Given the description of an element on the screen output the (x, y) to click on. 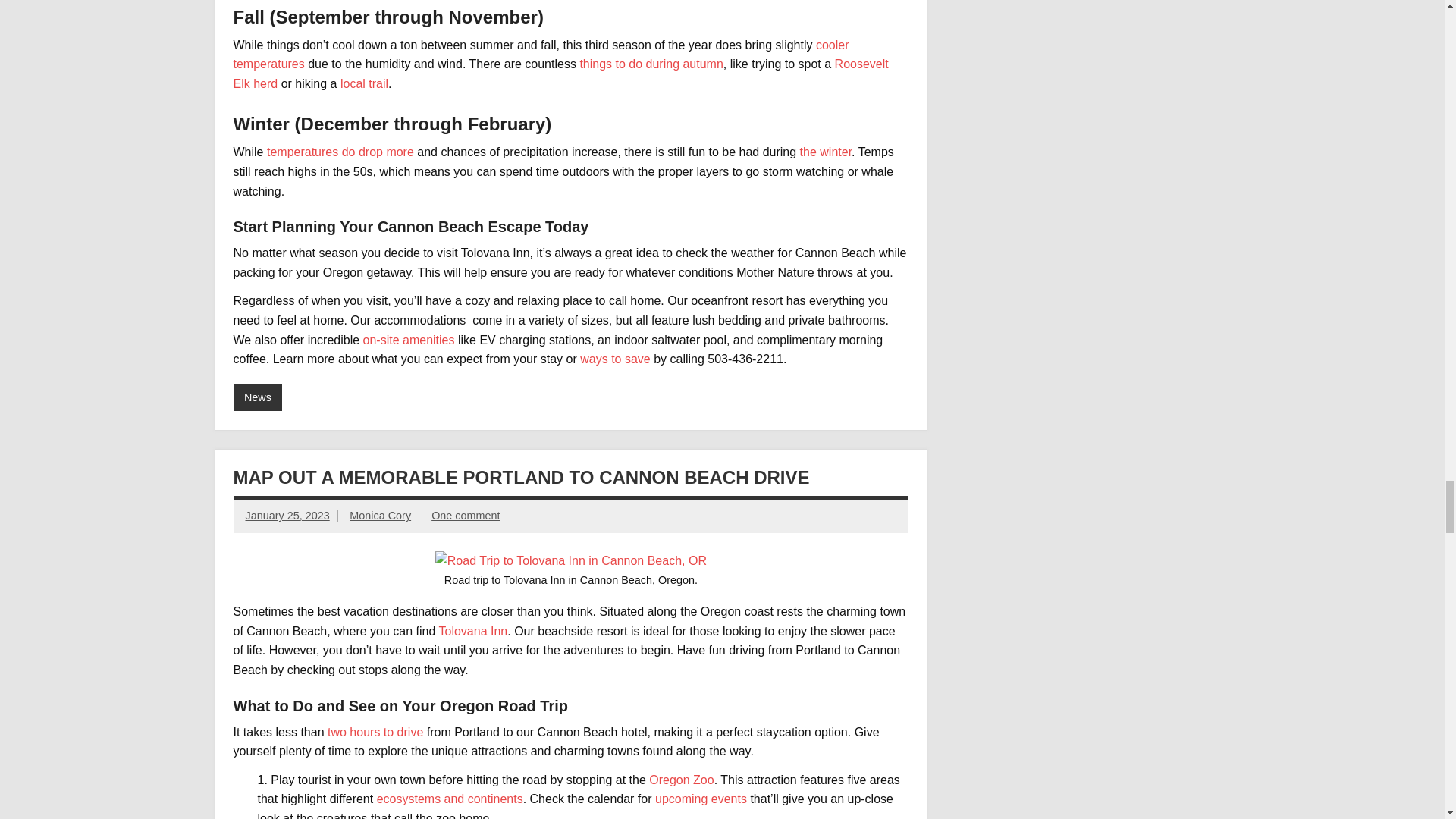
View all posts by Monica Cory (379, 515)
2:35 pm (288, 515)
